Given the description of an element on the screen output the (x, y) to click on. 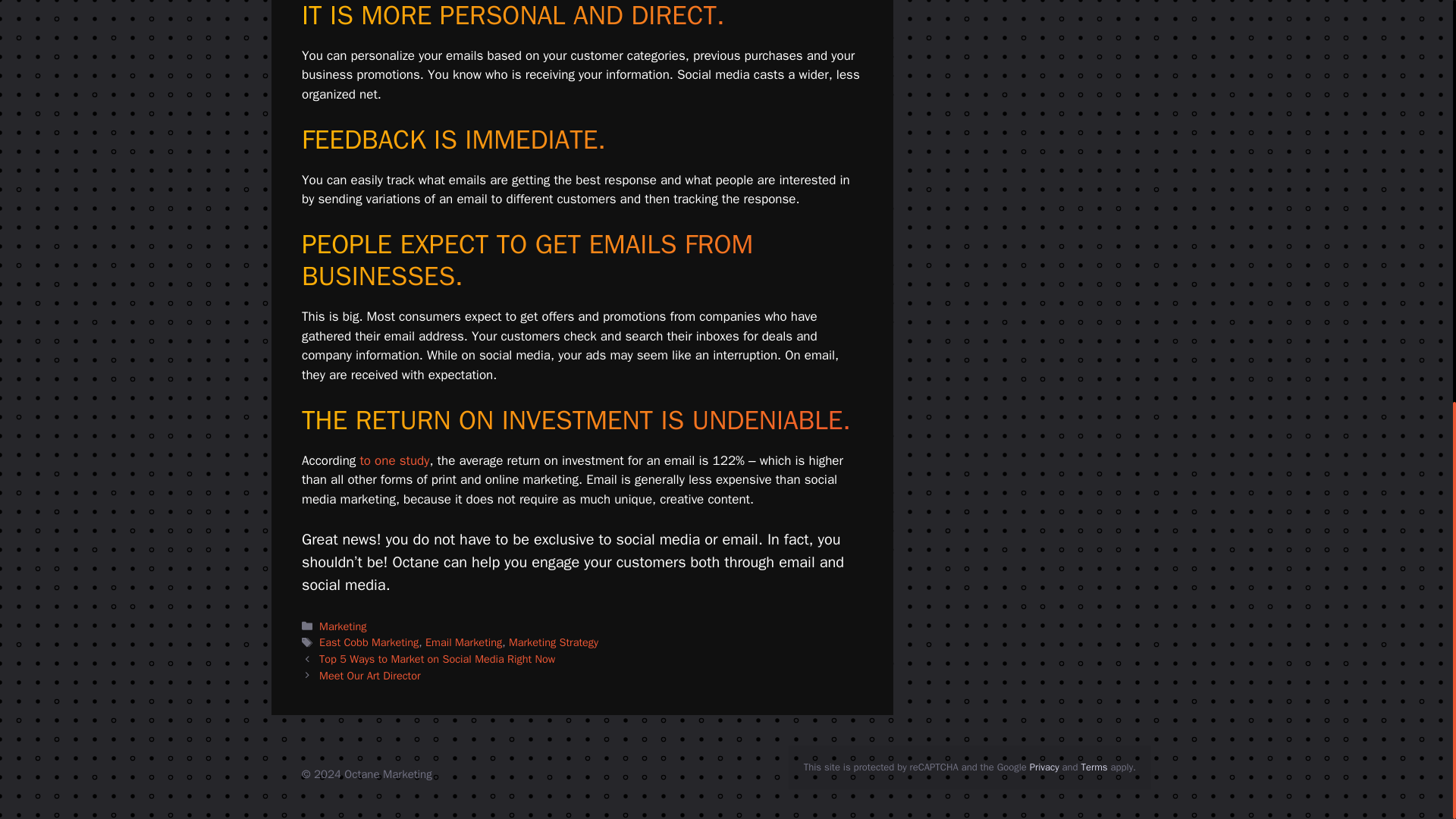
Privacy (1044, 766)
to one study (394, 460)
Terms (1094, 766)
Top 5 Ways to Market on Social Media Right Now (436, 658)
East Cobb Marketing (368, 642)
Marketing Strategy (553, 642)
Email Marketing (463, 642)
Marketing (342, 626)
Meet Our Art Director (369, 675)
